Given the description of an element on the screen output the (x, y) to click on. 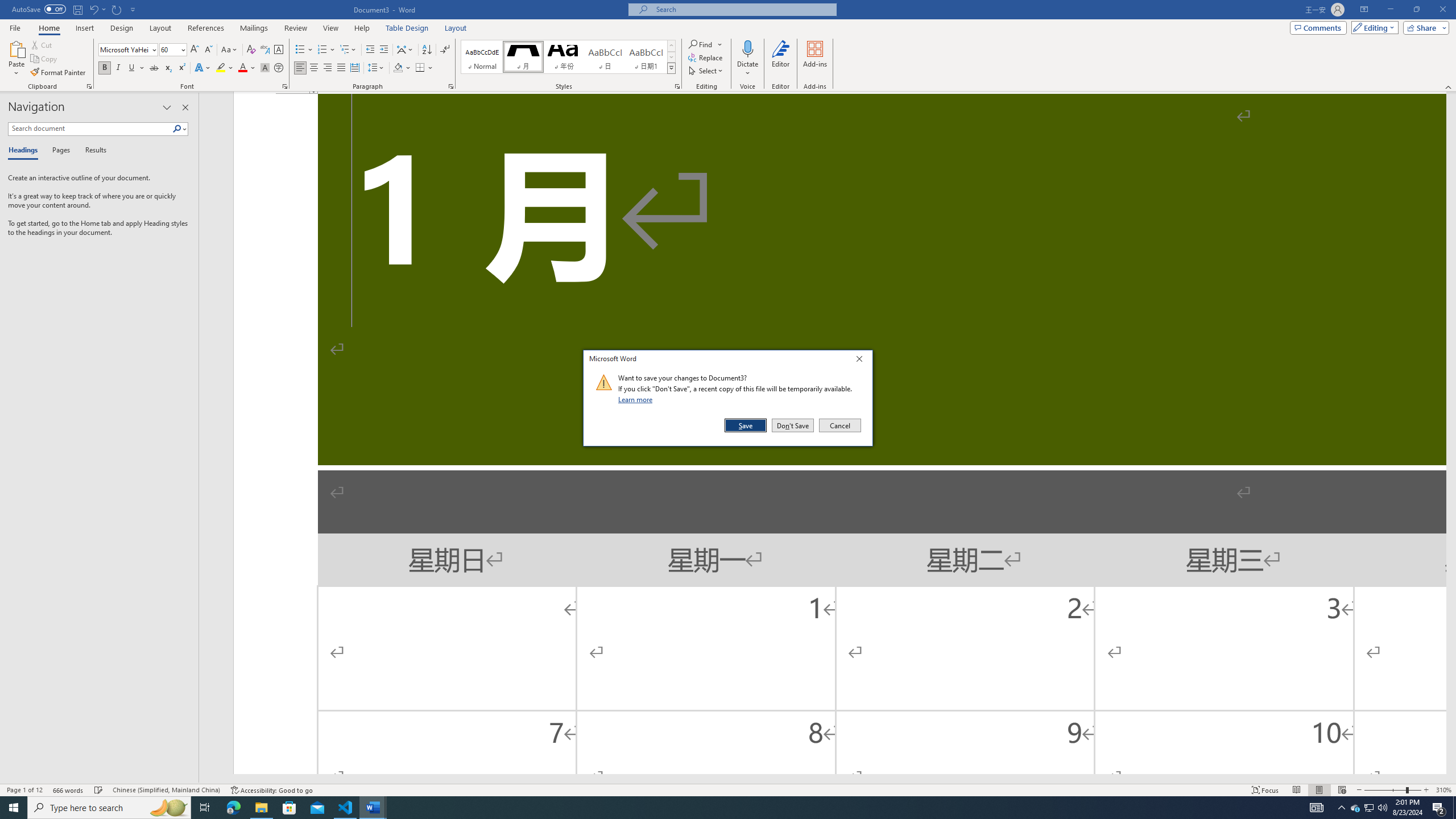
Header -Section 1- (838, 92)
Action Center, 2 new notifications (1439, 807)
Undo Increase Indent (96, 9)
Task View (204, 807)
Font Color RGB(255, 0, 0) (241, 67)
Search highlights icon opens search home window (167, 807)
Undo Increase Indent (92, 9)
Language Chinese (Simplified, Mainland China) (165, 790)
Word - 2 running windows (373, 807)
